Given the description of an element on the screen output the (x, y) to click on. 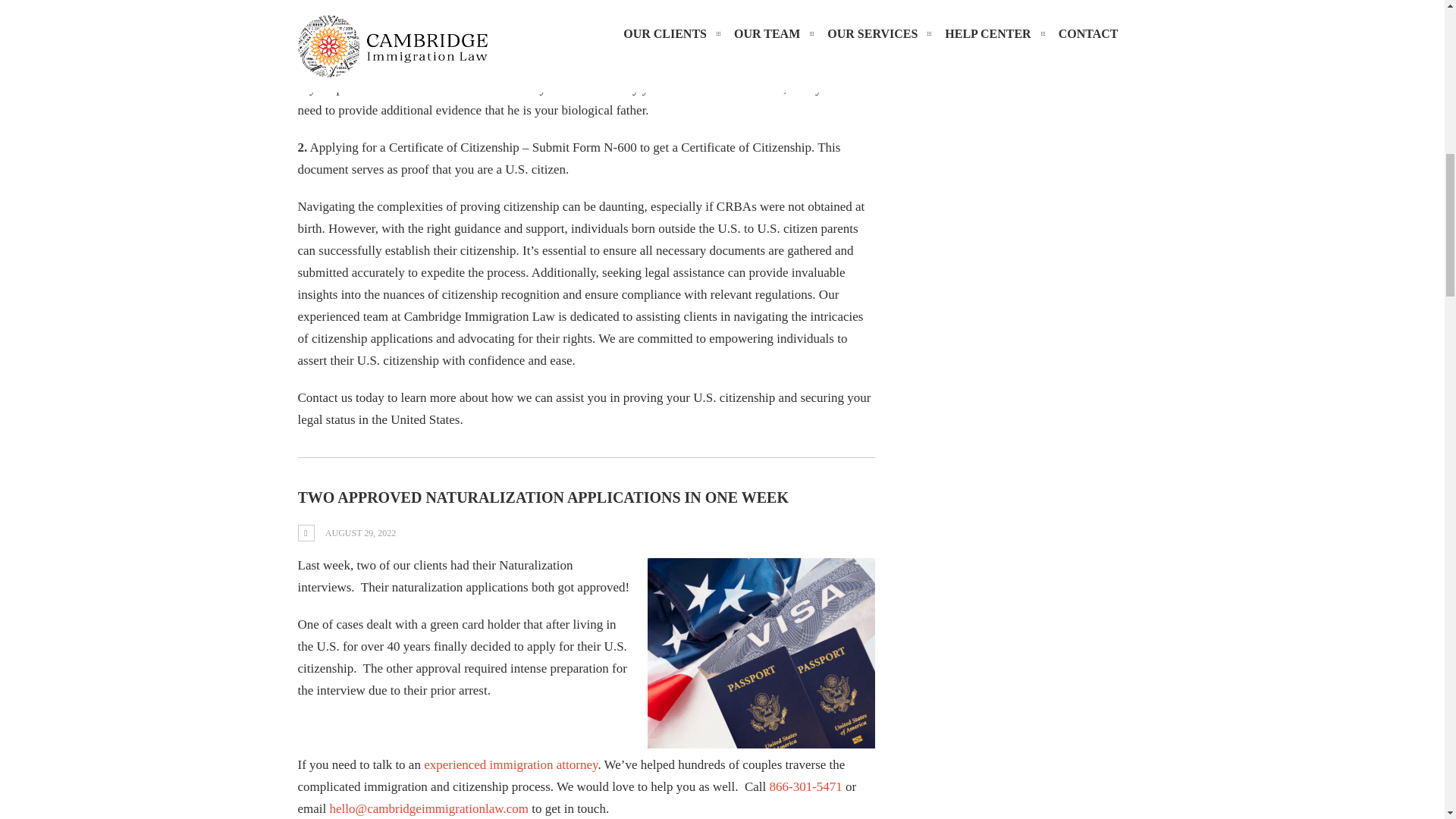
866-301-5471 (804, 786)
experienced immigration attorney (509, 764)
TWO APPROVED NATURALIZATION APPLICATIONS IN ONE WEEK (543, 497)
